Given the description of an element on the screen output the (x, y) to click on. 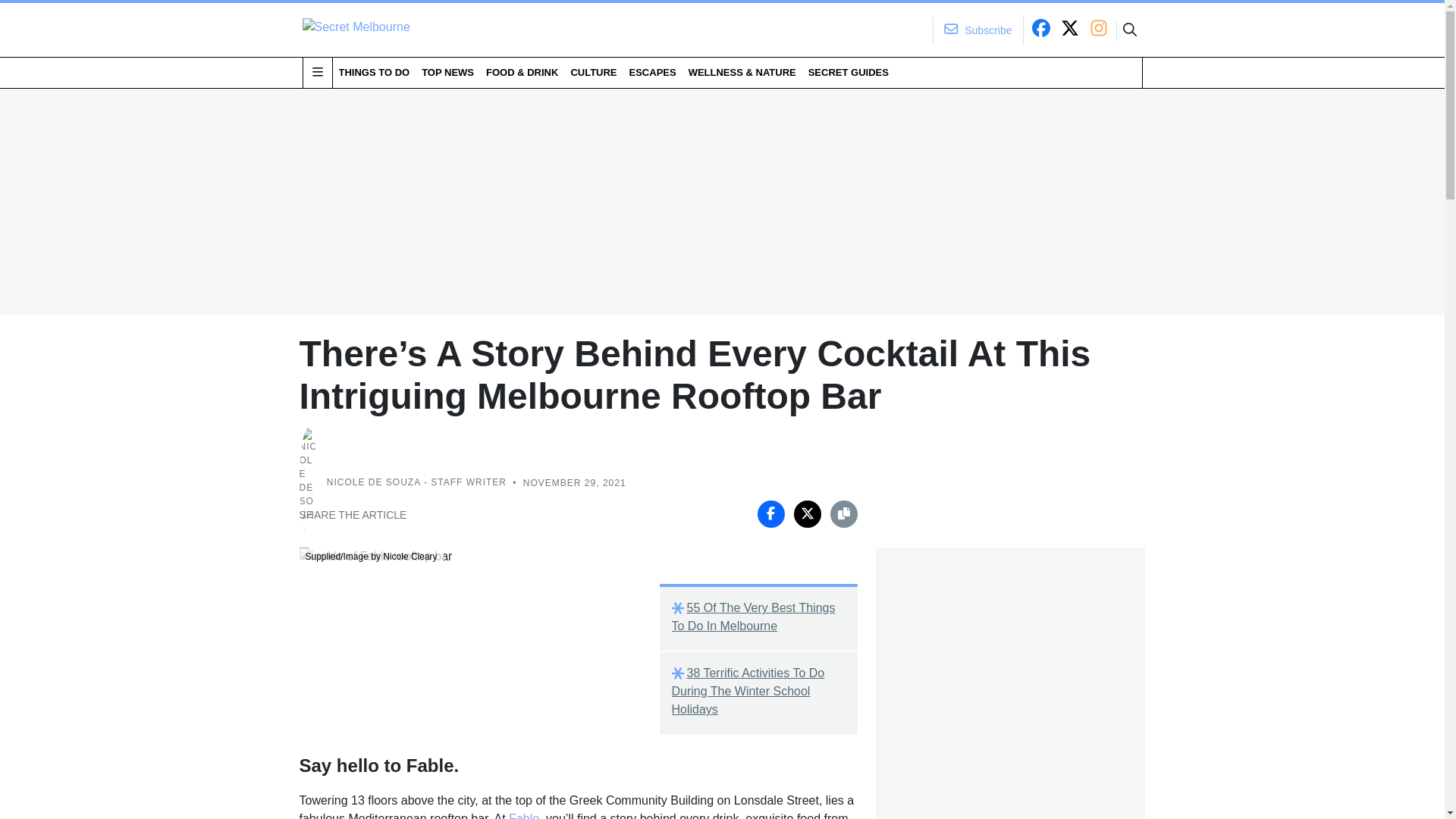
Fable (523, 815)
ESCAPES (652, 72)
NICOLE DE SOUZA (373, 482)
CULTURE (592, 72)
THINGS TO DO (373, 72)
TOP NEWS (448, 72)
55 Of The Very Best Things To Do In Melbourne (758, 616)
SECRET GUIDES (848, 72)
